Given the description of an element on the screen output the (x, y) to click on. 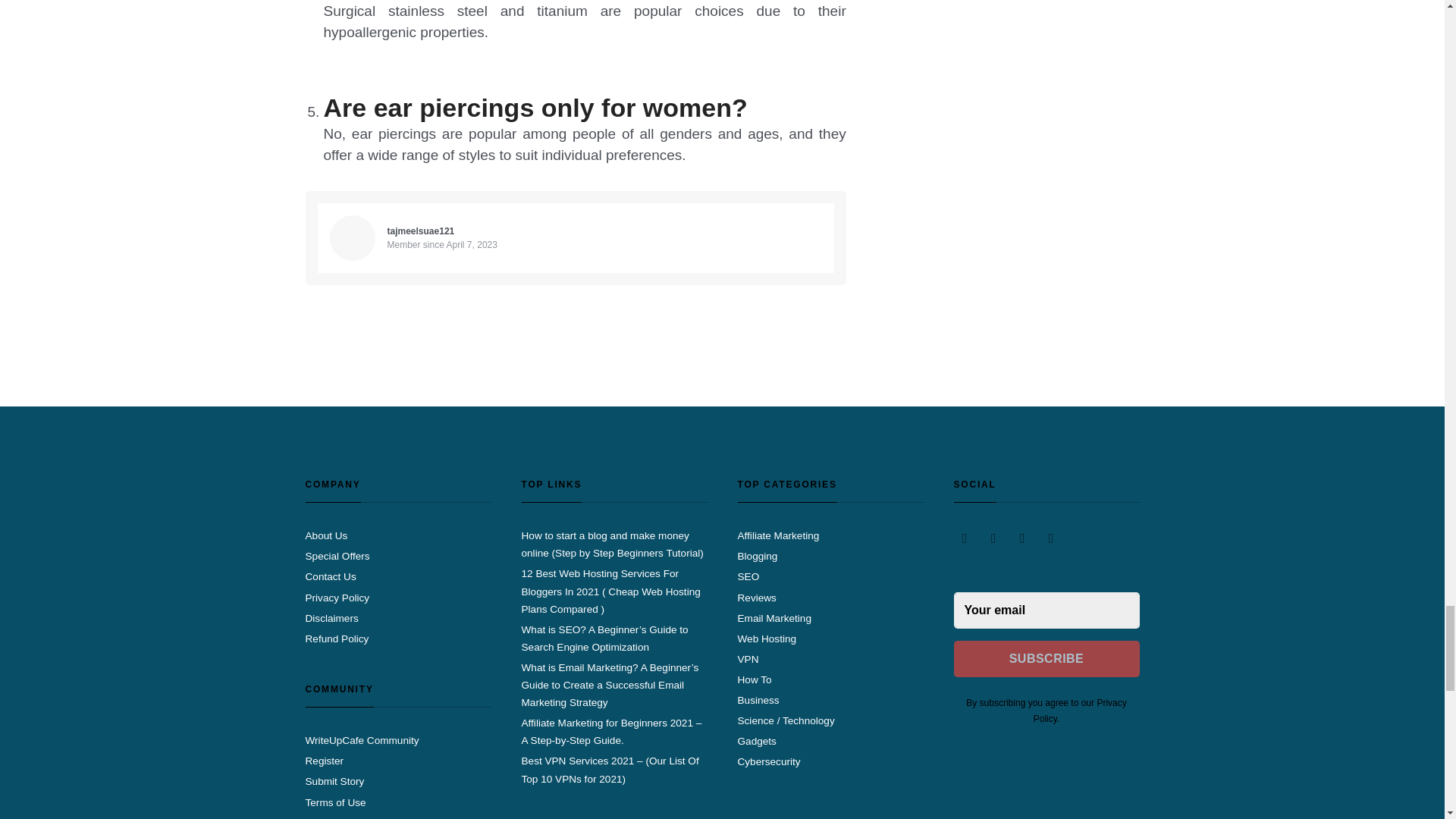
tajmeelsuae121 (420, 231)
